Given the description of an element on the screen output the (x, y) to click on. 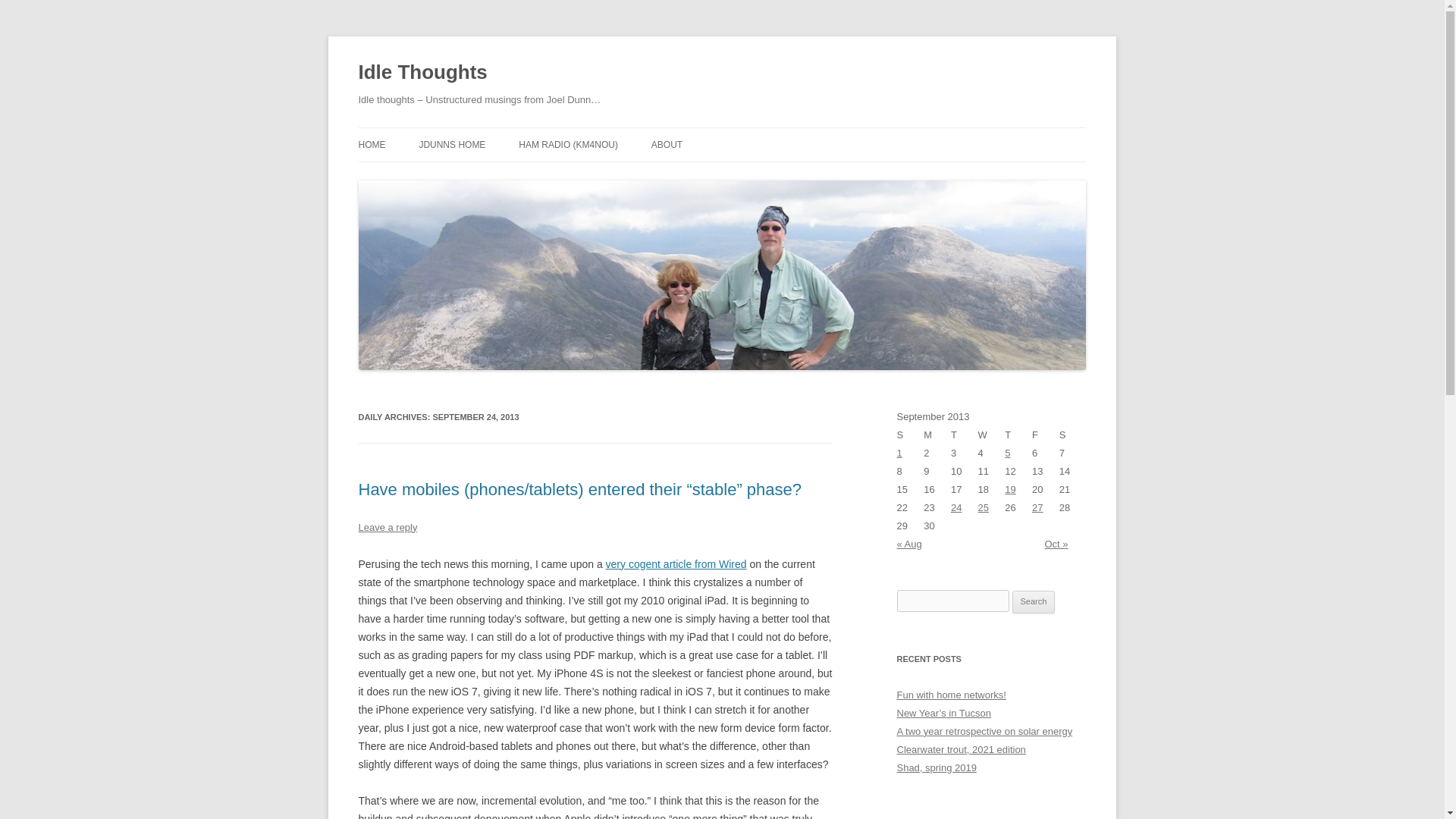
Idle Thoughts (422, 72)
24 (955, 507)
Search (1033, 601)
Clearwater trout, 2021 edition (960, 749)
very cogent article from Wired (675, 563)
Wednesday (992, 434)
Fun with home networks! (951, 695)
Tuesday (964, 434)
Friday (1045, 434)
19 (1009, 489)
ABOUT (666, 144)
Monday (936, 434)
Saturday (1072, 434)
Shad, spring 2019 (935, 767)
Search (1033, 601)
